Given the description of an element on the screen output the (x, y) to click on. 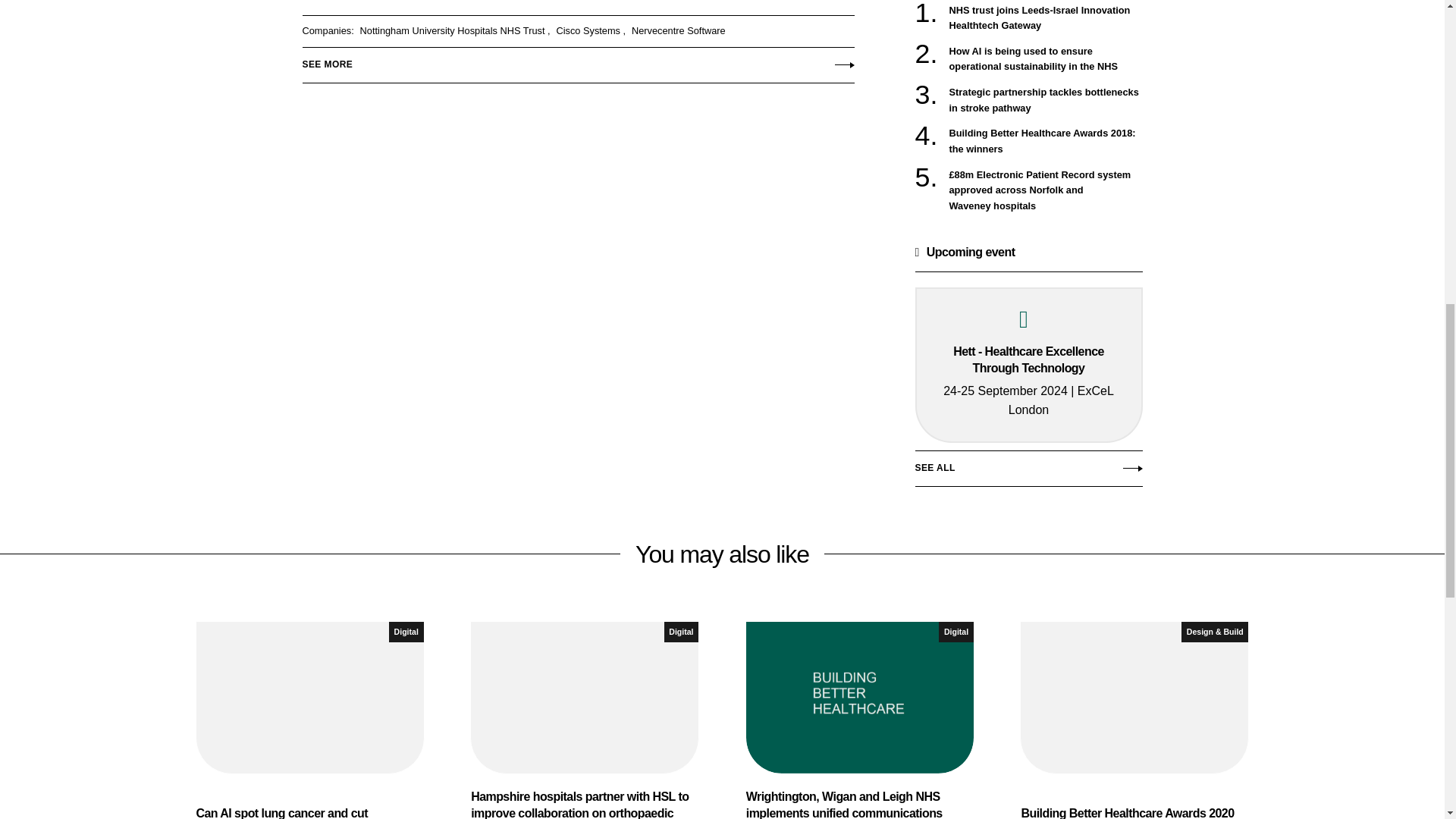
SEE MORE (577, 61)
Strategic partnership tackles bottlenecks in stroke pathway (1045, 100)
NHS trust joins Leeds-Israel Innovation Healthtech Gateway (1045, 18)
Building Better Healthcare Awards 2018: the winners (1045, 141)
